Given the description of an element on the screen output the (x, y) to click on. 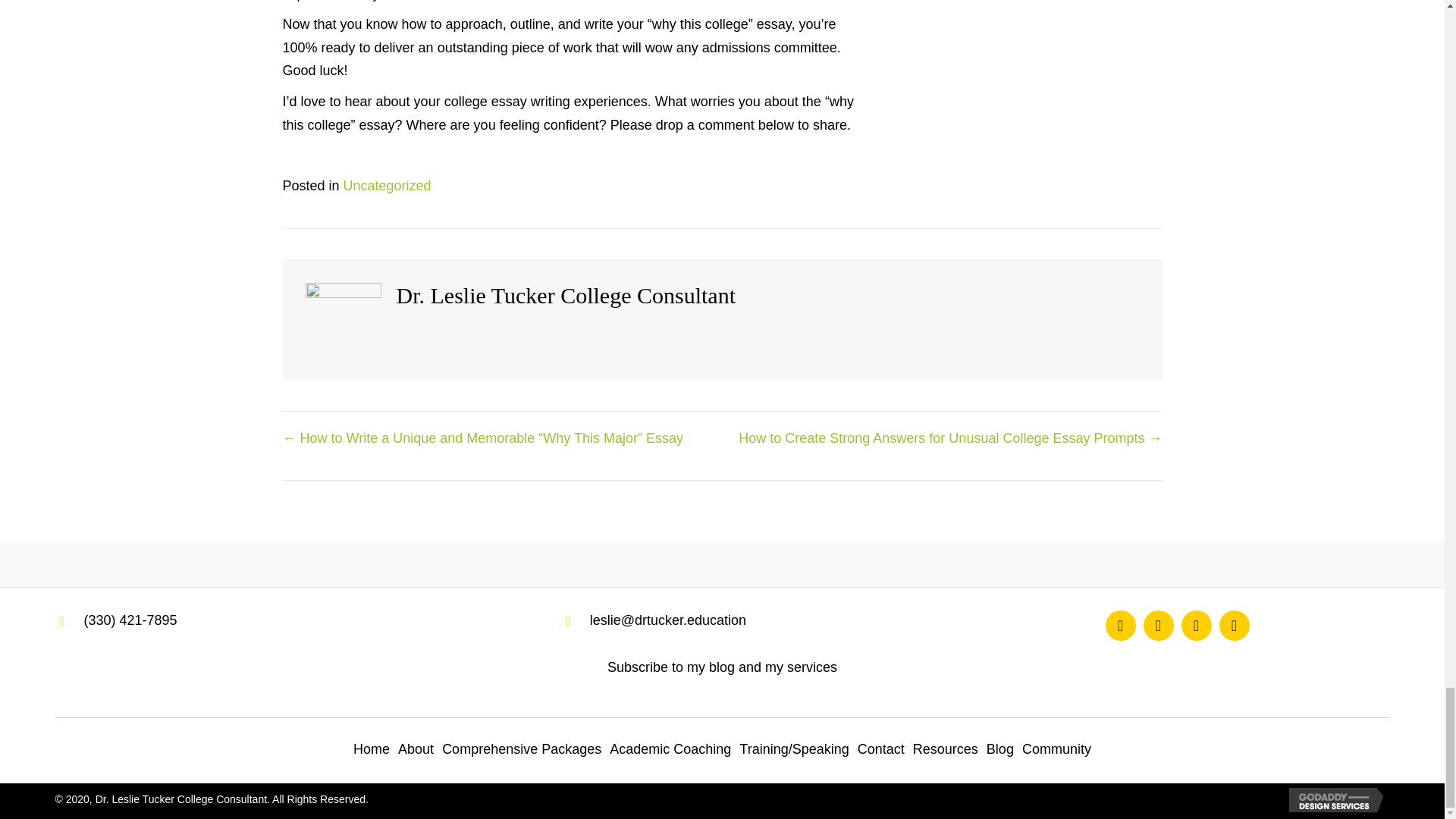
Pinterest (1157, 625)
Facebook (1120, 625)
Pinterest (1234, 625)
Uncategorized (386, 185)
Pinterest (1195, 625)
